Given the description of an element on the screen output the (x, y) to click on. 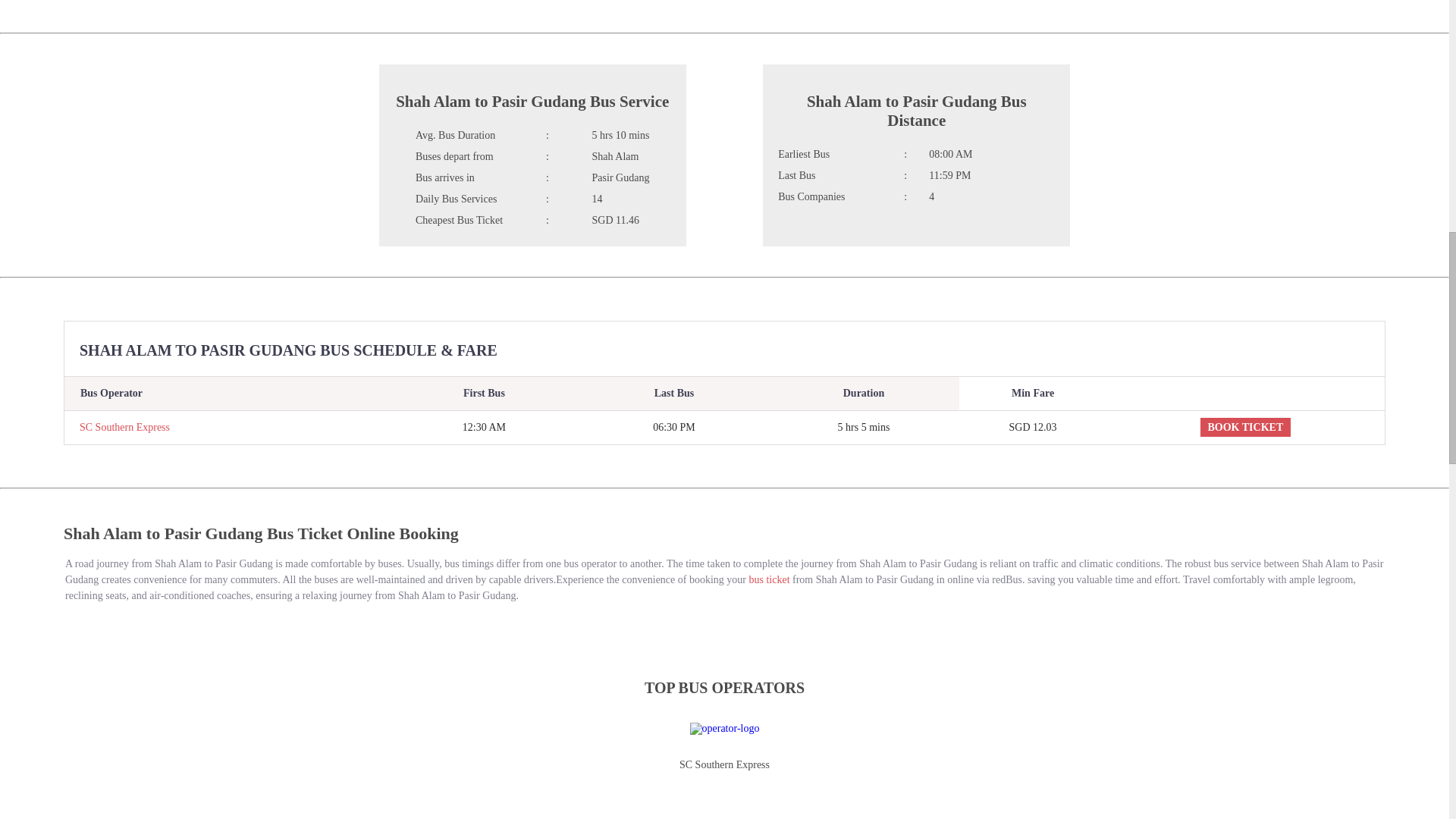
bus ticket (769, 579)
SC Southern Express (117, 427)
BOOK TICKET (1244, 425)
